Given the description of an element on the screen output the (x, y) to click on. 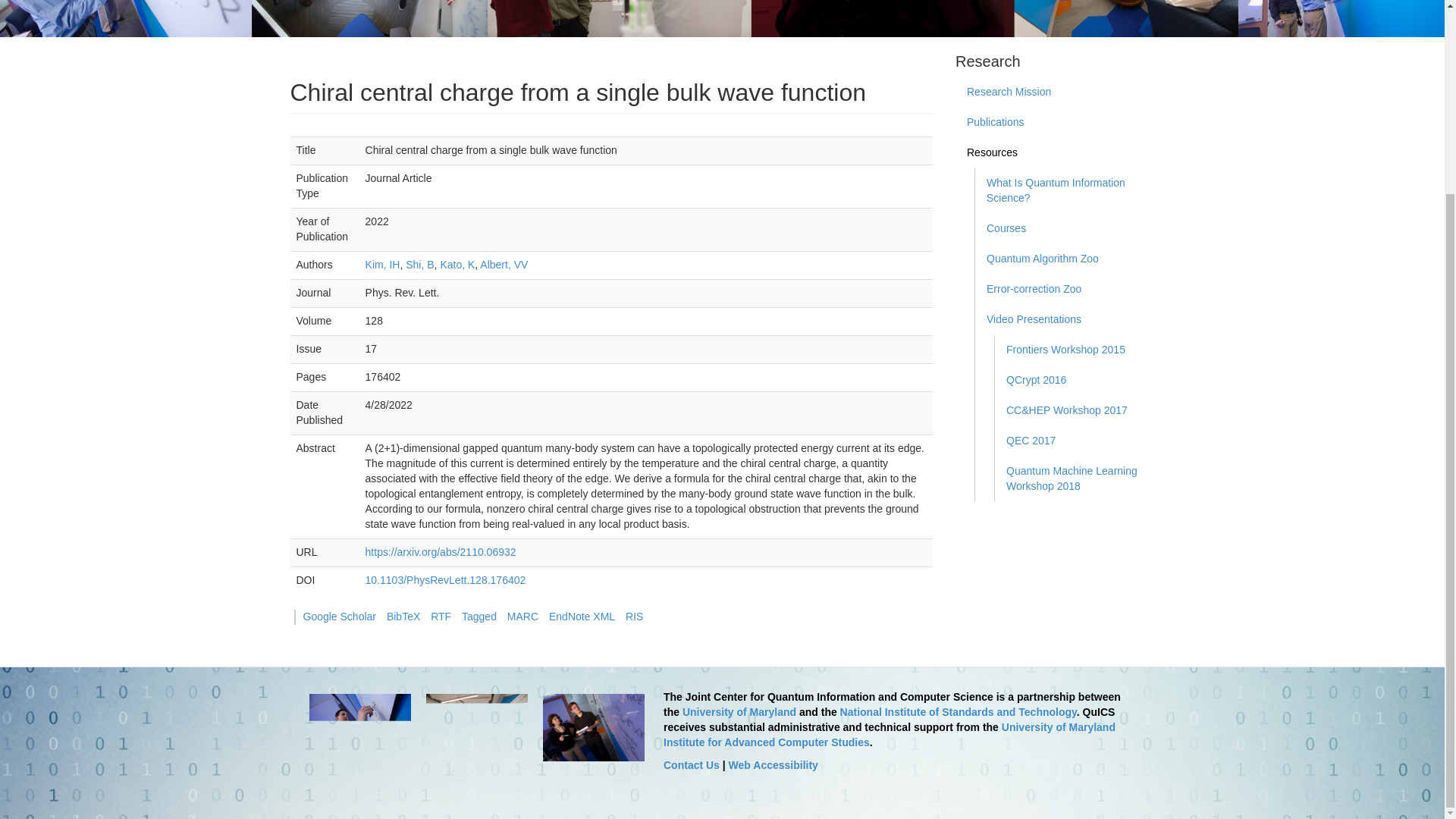
RIS (634, 616)
National Institute of Standards and Technology (958, 711)
EndNote XML (581, 616)
Click to download the RTF formatted file (440, 616)
Google Scholar (339, 616)
University of Maryland (739, 711)
Click to download the RIS formatted file (634, 616)
Publications (1054, 122)
Click to search Google Scholar for this entry (339, 616)
